Given the description of an element on the screen output the (x, y) to click on. 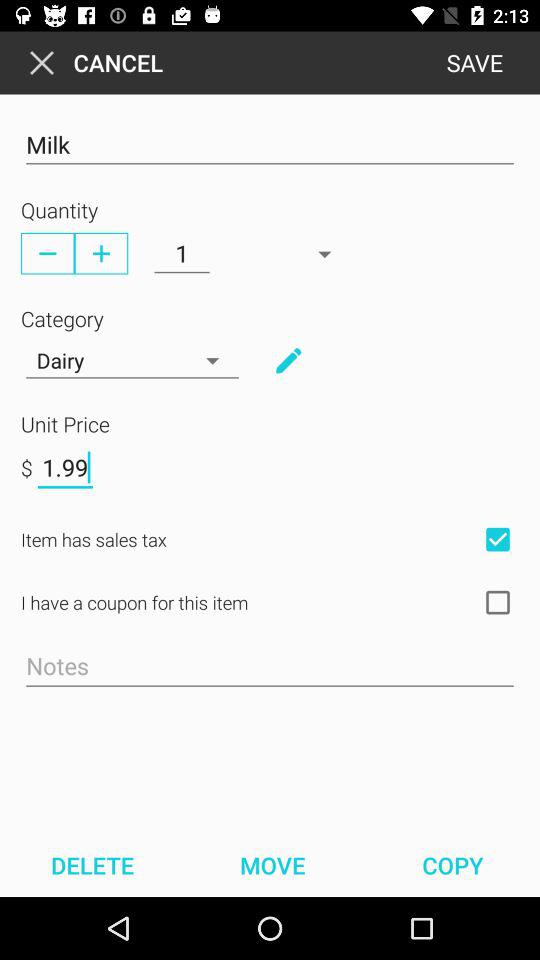
quantity fewer option (47, 253)
